Given the description of an element on the screen output the (x, y) to click on. 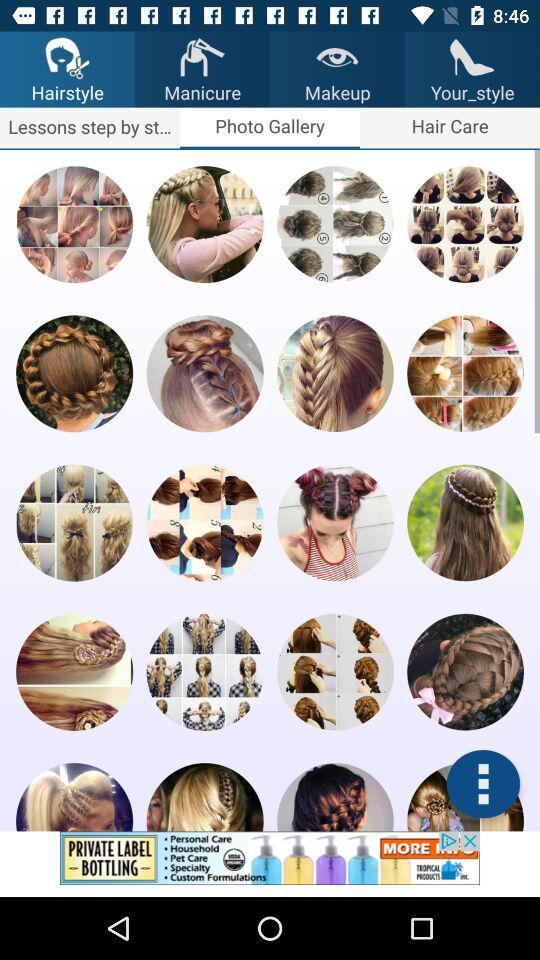
select picture (204, 797)
